Given the description of an element on the screen output the (x, y) to click on. 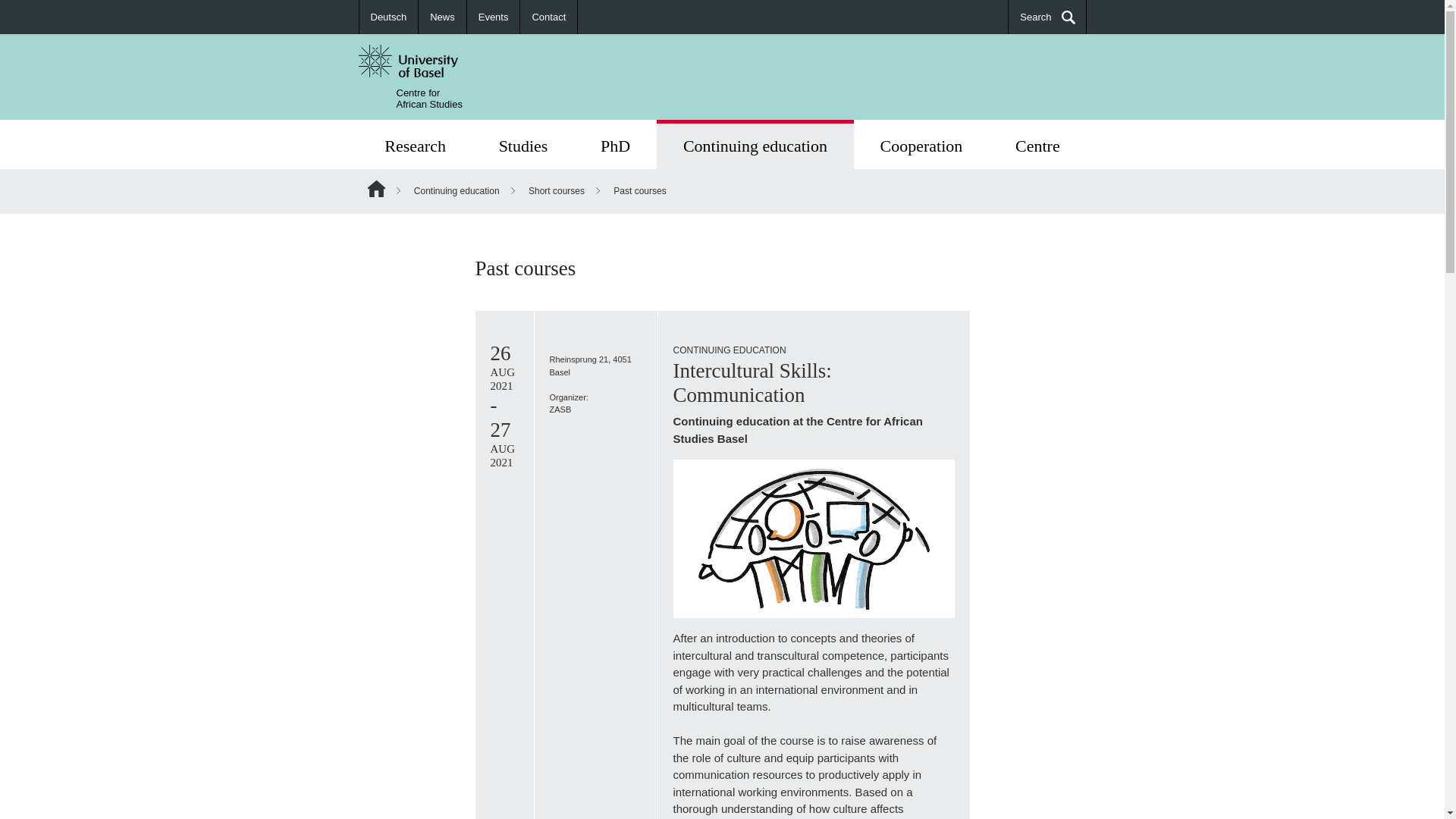
Research (414, 143)
Events (493, 17)
News (443, 17)
Contact (548, 17)
Events (494, 17)
PhD (614, 143)
Research (414, 143)
Centre (1037, 143)
Cooperation (920, 143)
PhD (614, 143)
